Given the description of an element on the screen output the (x, y) to click on. 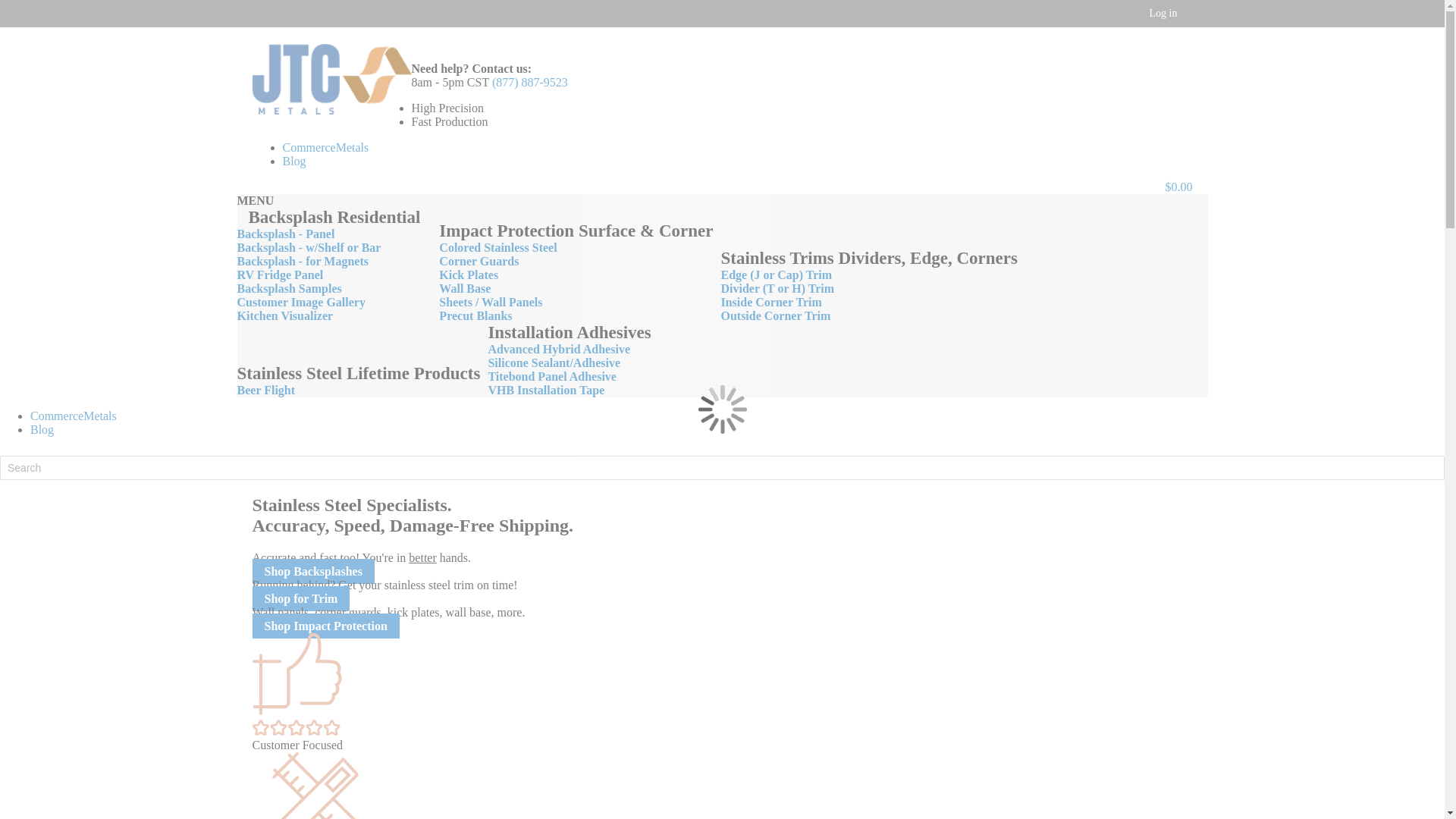
JTC Metals (330, 80)
Advanced Hybrid Adhesive (558, 349)
Corner Guards (478, 260)
Colored Stainless Steel (497, 246)
RV Fridge Panel (279, 274)
Customer Image Gallery (300, 301)
Installation Adhesives (568, 332)
Titebond Panel Adhesive (551, 376)
Kitchen Visualizer (284, 315)
Blog (41, 429)
